Given the description of an element on the screen output the (x, y) to click on. 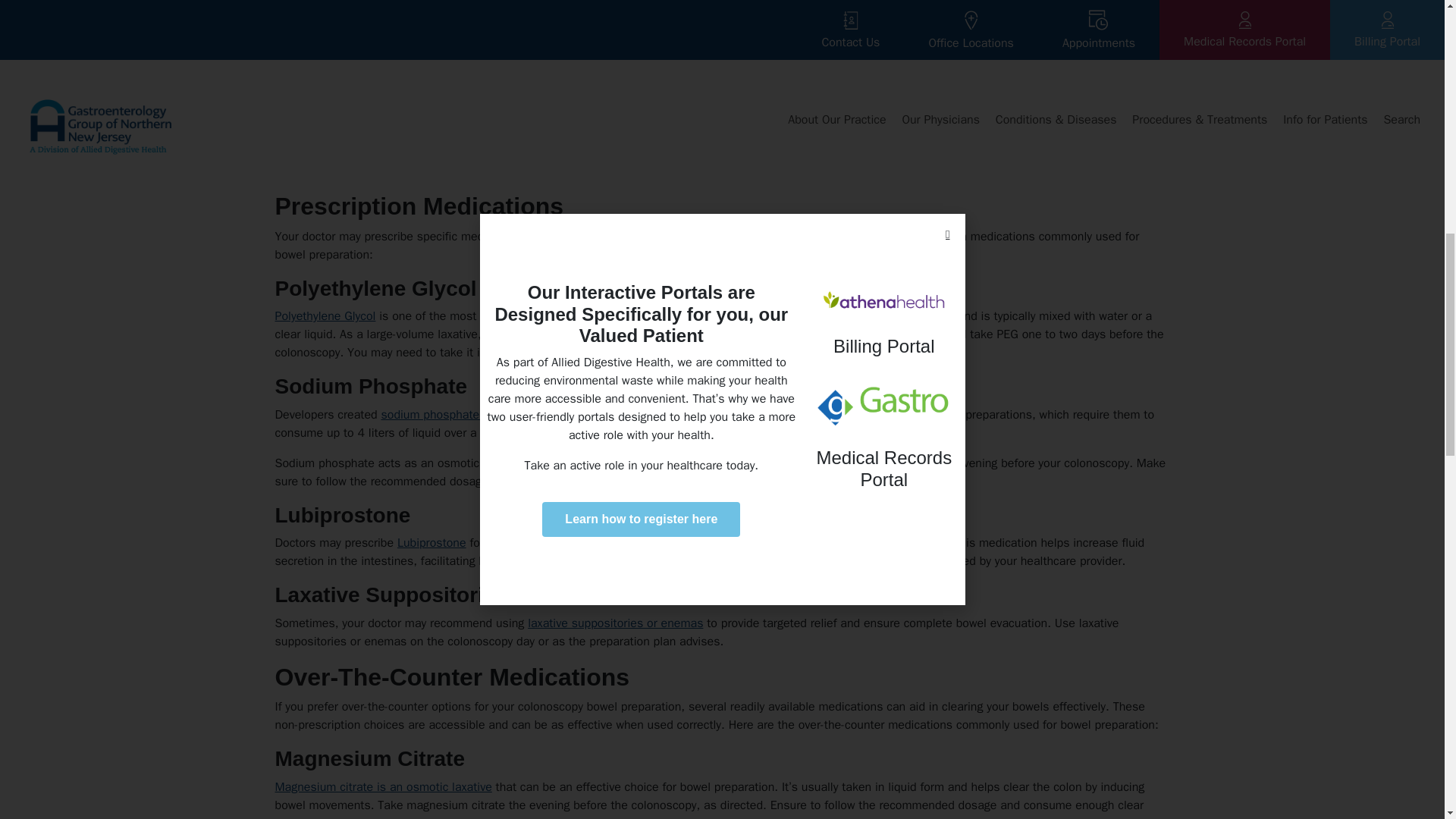
Lubiprostone (431, 542)
Polyethylene Glycol (325, 315)
laxative suppositories or enemas (615, 622)
irritable bowel syndrome (747, 542)
Magnesium citrate is an osmotic laxative (383, 786)
polyps or tumors (924, 151)
